Given the description of an element on the screen output the (x, y) to click on. 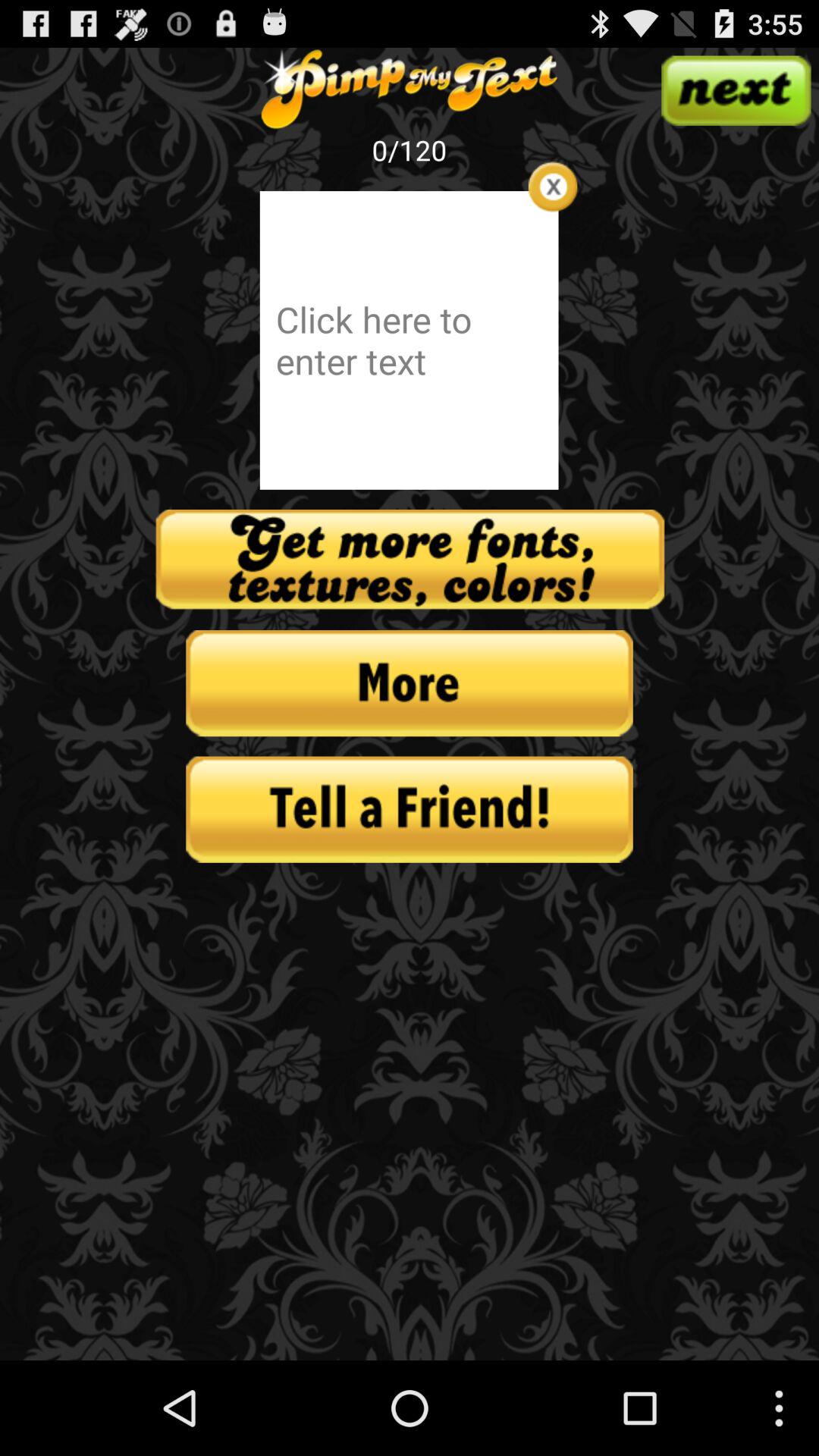
go to click here (408, 340)
